Given the description of an element on the screen output the (x, y) to click on. 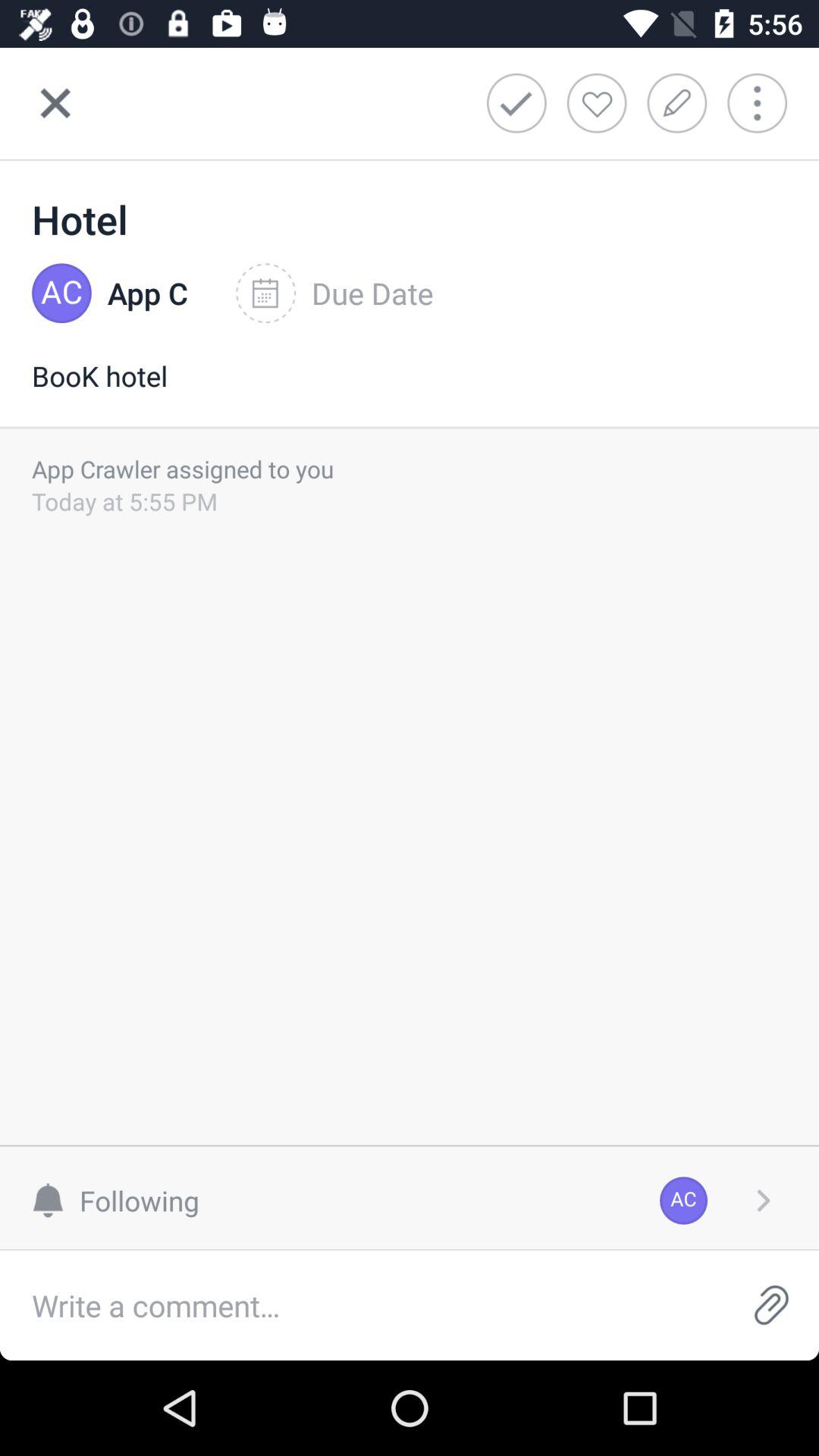
enter comment (361, 1305)
